Given the description of an element on the screen output the (x, y) to click on. 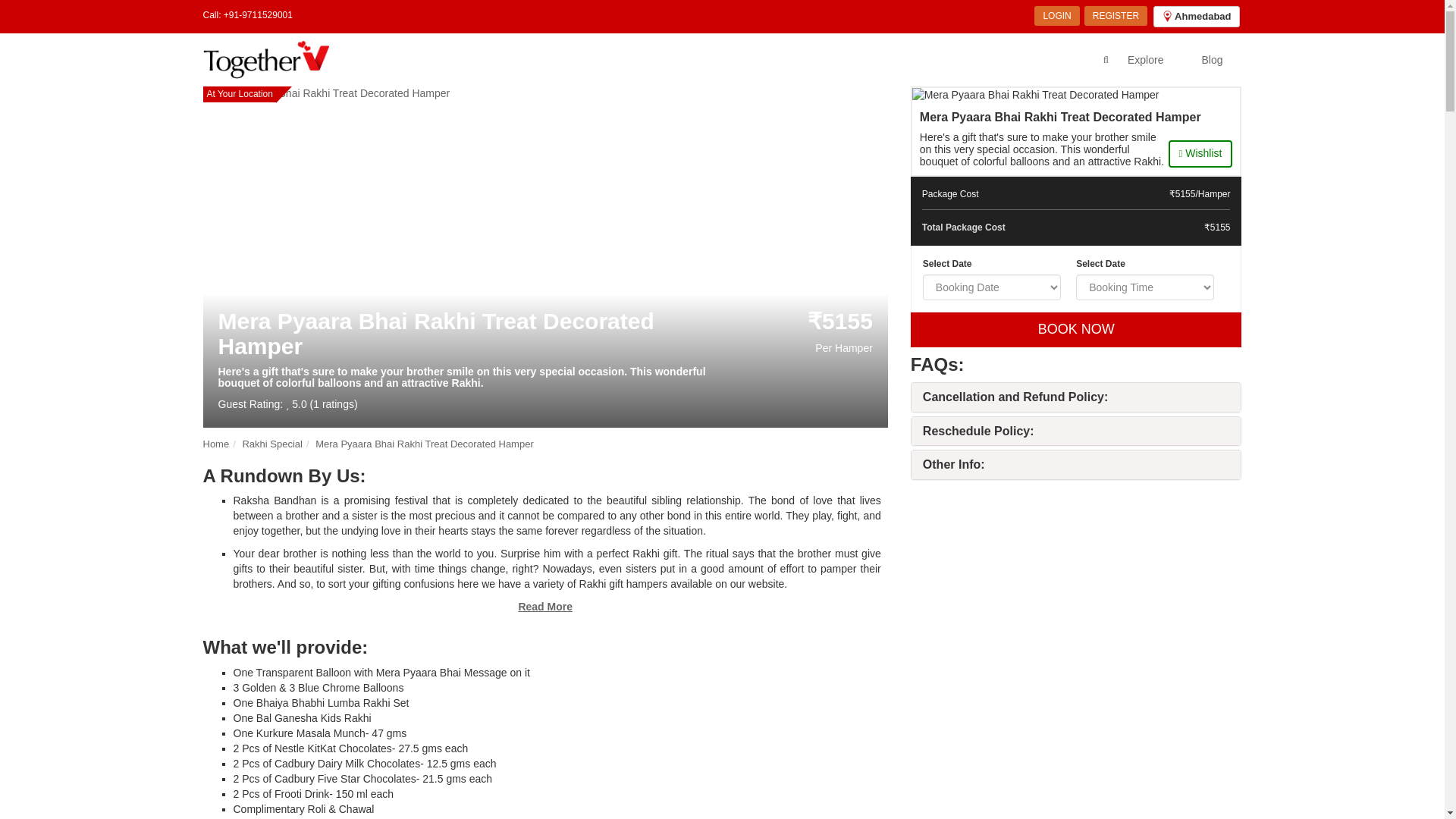
Rakhi Special (271, 443)
Explore (1144, 59)
Mera Pyaara Bhai Rakhi Treat Decorated Hamper (424, 443)
Home (216, 443)
Read More (545, 606)
Cancellation and Refund Policy: (1015, 396)
LOGIN (1055, 15)
Other Info: (954, 463)
Ahmedabad (1196, 16)
Blog (1212, 59)
